Given the description of an element on the screen output the (x, y) to click on. 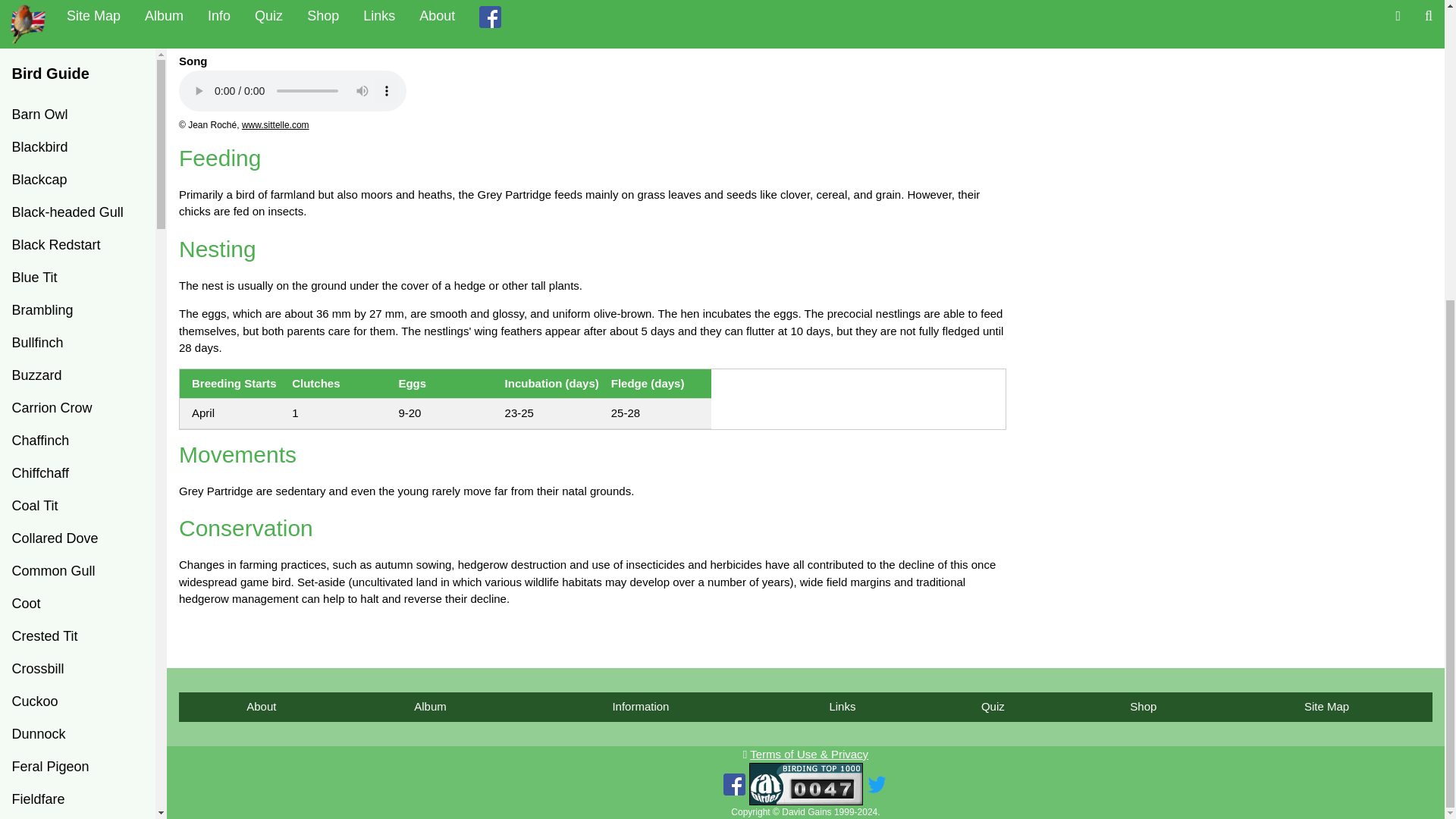
Goldcrest (77, 397)
Fatbirder's Top 1000 Birding Websites (806, 783)
Visit us on twitter (877, 784)
Crossbill (77, 201)
Great Black-backed Gull (77, 505)
Coal Tit (77, 38)
Fieldfare (77, 332)
Visit us on facebook (734, 784)
Goshawk (77, 462)
Crested Tit (77, 169)
